Given the description of an element on the screen output the (x, y) to click on. 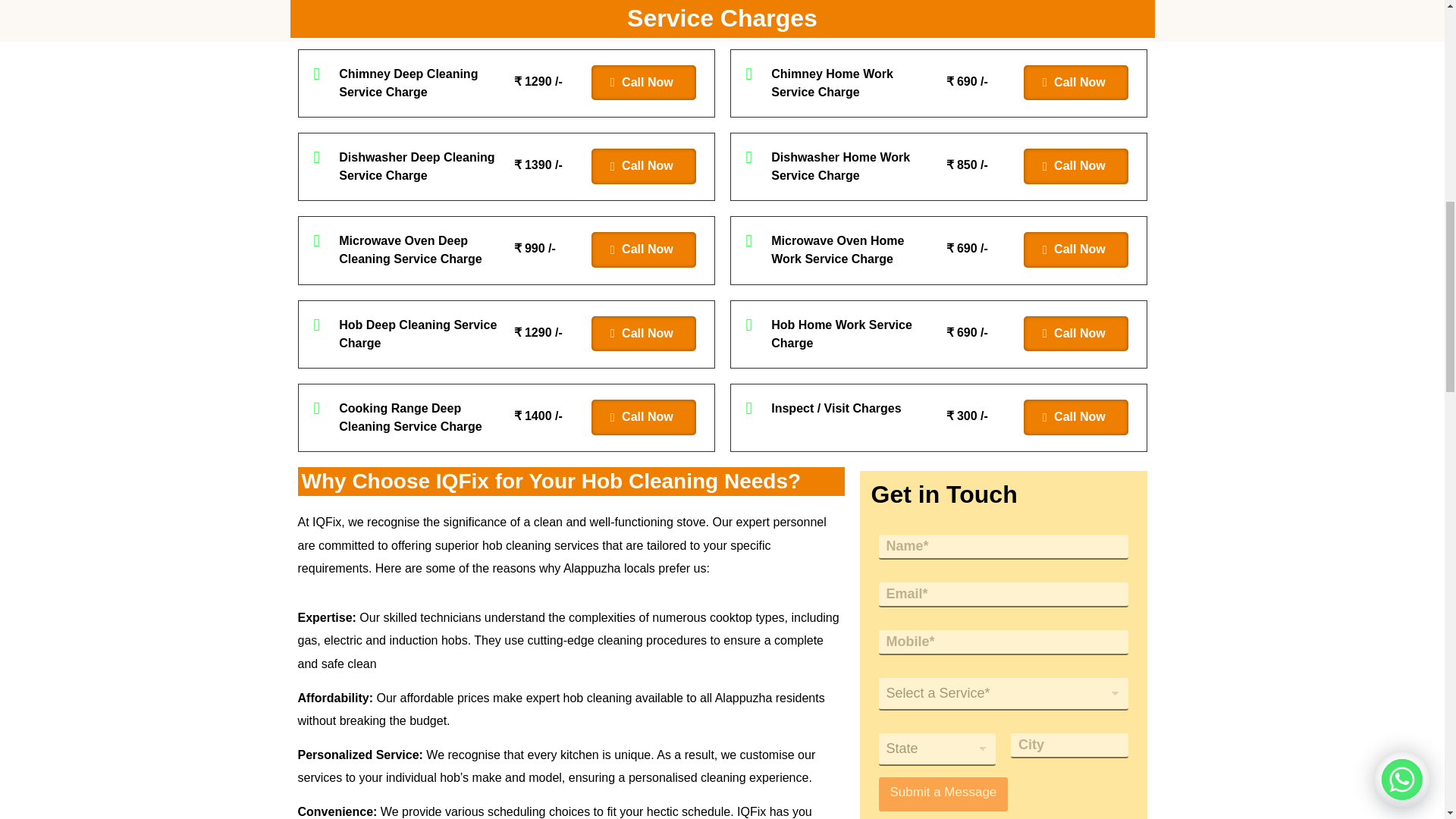
Call Now (643, 82)
Call Now (643, 166)
Call Now (1075, 249)
Call Now (1075, 82)
Call Now (1075, 334)
Call Now (643, 249)
Call Now (643, 334)
Call Now (1075, 166)
